Given the description of an element on the screen output the (x, y) to click on. 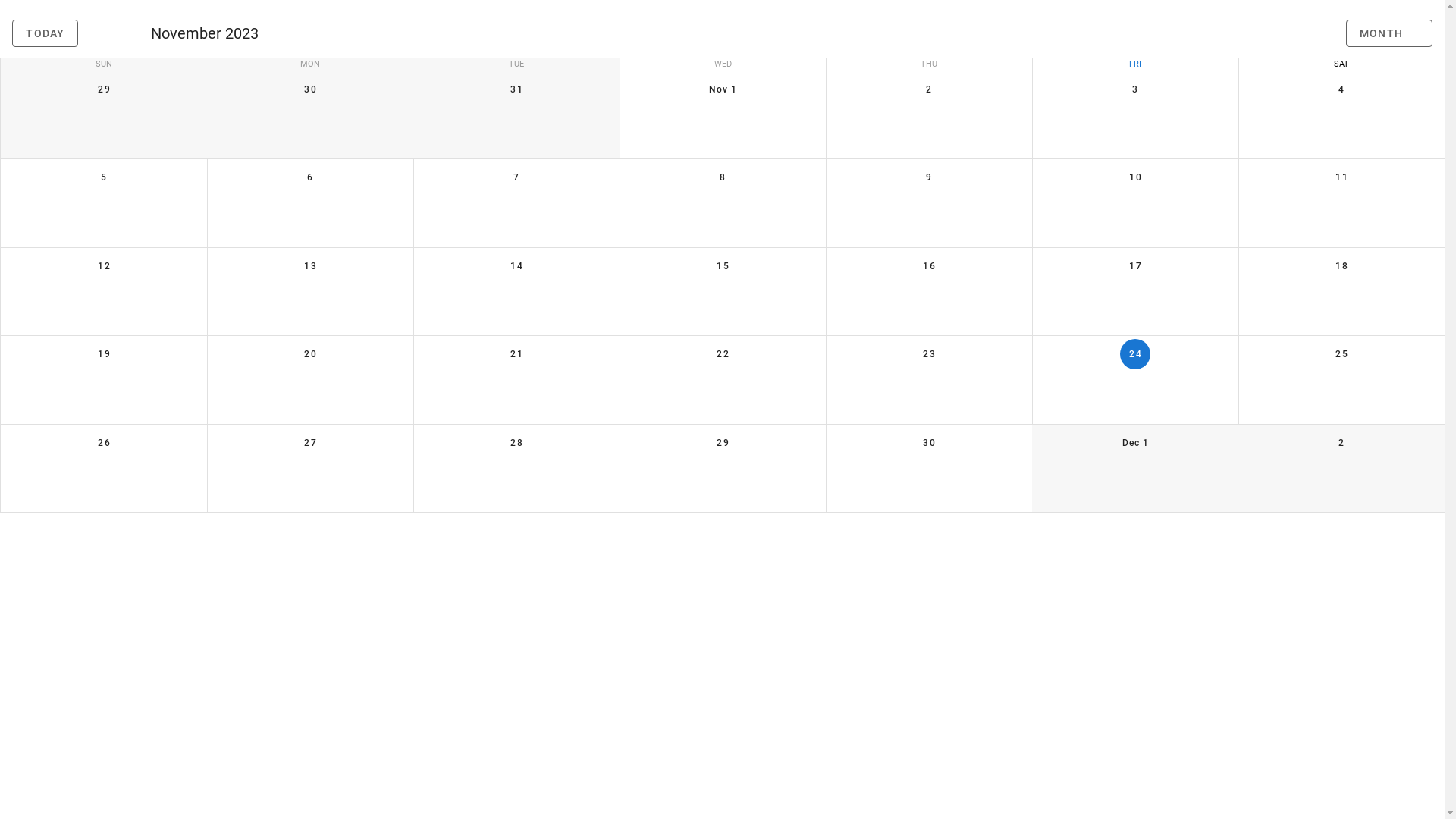
Dec 1 Element type: text (1135, 442)
5 Element type: text (103, 177)
14 Element type: text (516, 265)
15 Element type: text (722, 265)
3 Element type: text (1135, 89)
7 Element type: text (516, 177)
6 Element type: text (309, 177)
27 Element type: text (309, 442)
28 Element type: text (516, 442)
10 Element type: text (1135, 177)
2 Element type: text (928, 89)
20 Element type: text (309, 353)
19 Element type: text (103, 353)
23 Element type: text (928, 353)
26 Element type: text (103, 442)
21 Element type: text (516, 353)
Nov 1 Element type: text (722, 89)
11 Element type: text (1341, 177)
25 Element type: text (1341, 353)
12 Element type: text (103, 265)
TODAY Element type: text (45, 33)
17 Element type: text (1135, 265)
31 Element type: text (516, 89)
8 Element type: text (722, 177)
30 Element type: text (309, 89)
29 Element type: text (722, 442)
MONTH Element type: text (1388, 33)
2 Element type: text (1341, 442)
9 Element type: text (928, 177)
13 Element type: text (309, 265)
16 Element type: text (928, 265)
18 Element type: text (1341, 265)
29 Element type: text (103, 89)
30 Element type: text (928, 442)
22 Element type: text (722, 353)
24 Element type: text (1135, 353)
4 Element type: text (1341, 89)
